Given the description of an element on the screen output the (x, y) to click on. 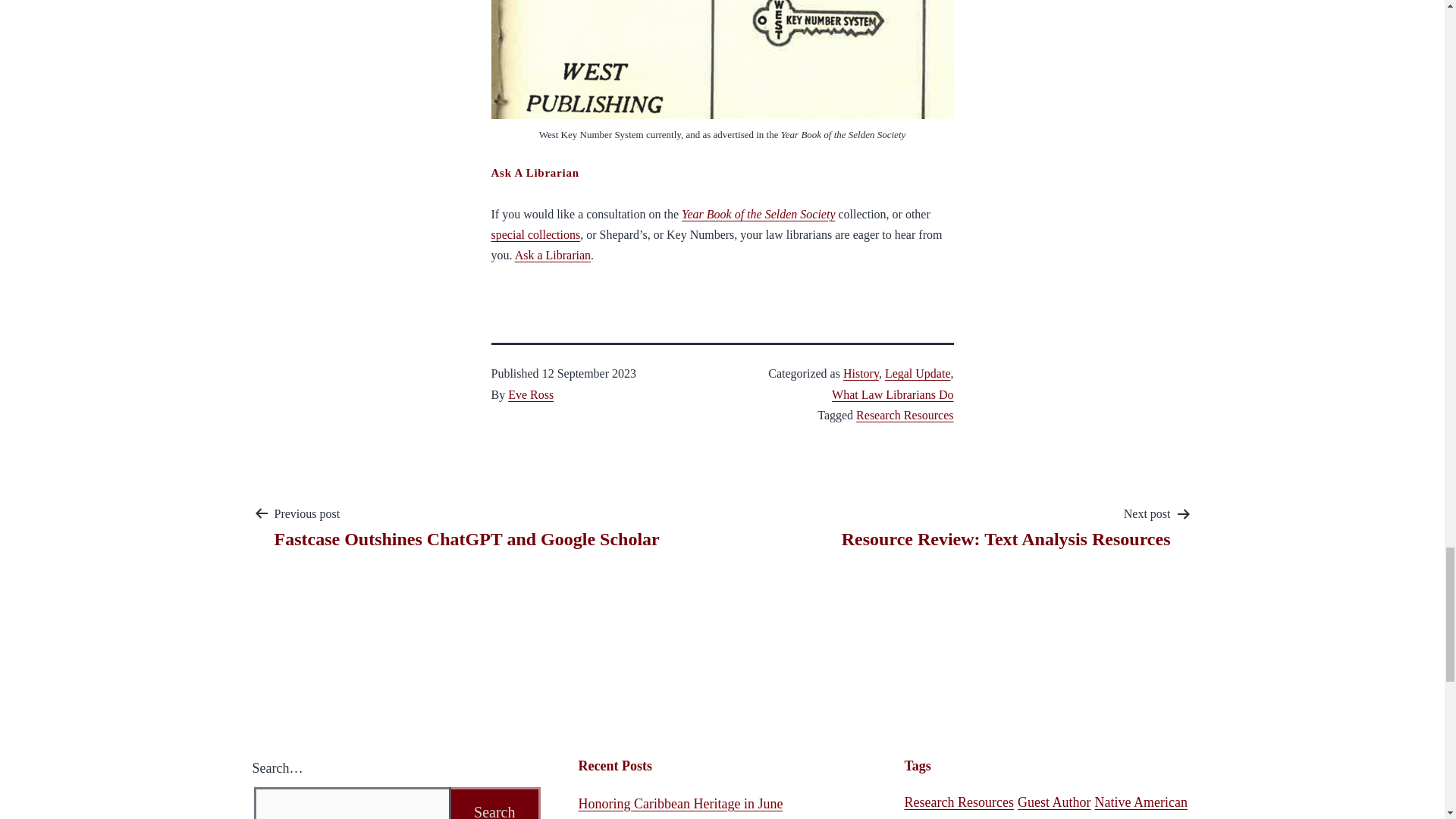
Search (494, 803)
special collections (536, 234)
Year Book of the Selden Society (757, 214)
Search (494, 803)
